Given the description of an element on the screen output the (x, y) to click on. 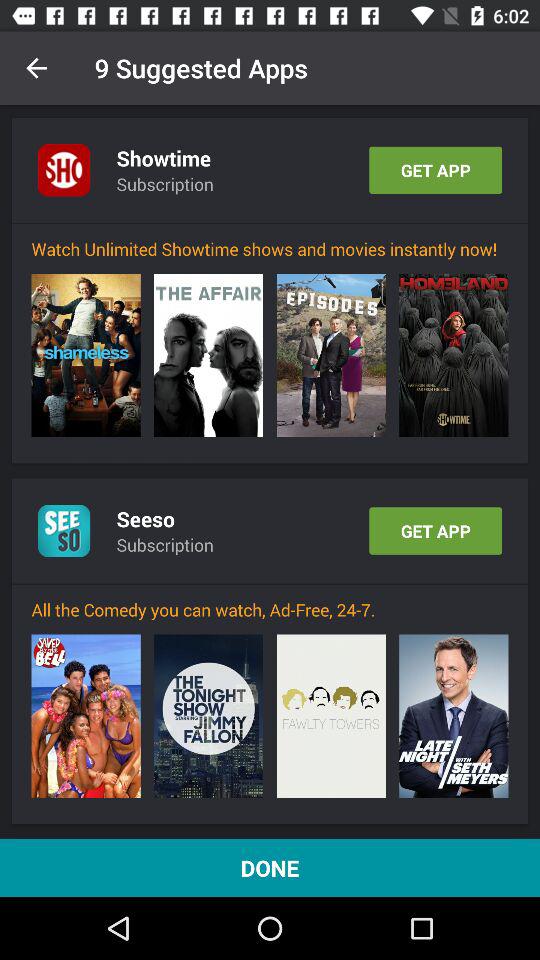
turn on the item above the seeso item (208, 355)
